Given the description of an element on the screen output the (x, y) to click on. 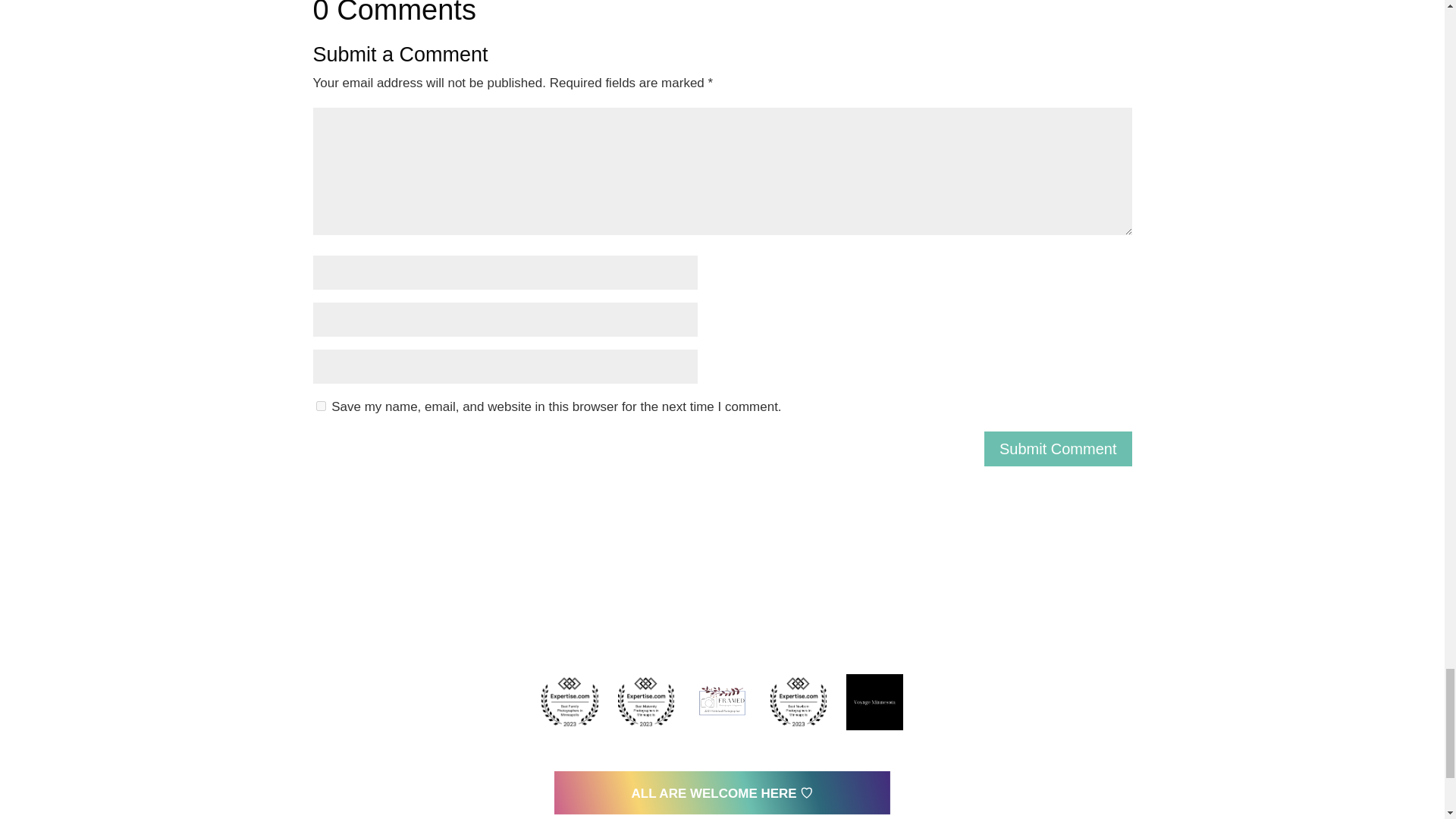
yes (319, 406)
